Given the description of an element on the screen output the (x, y) to click on. 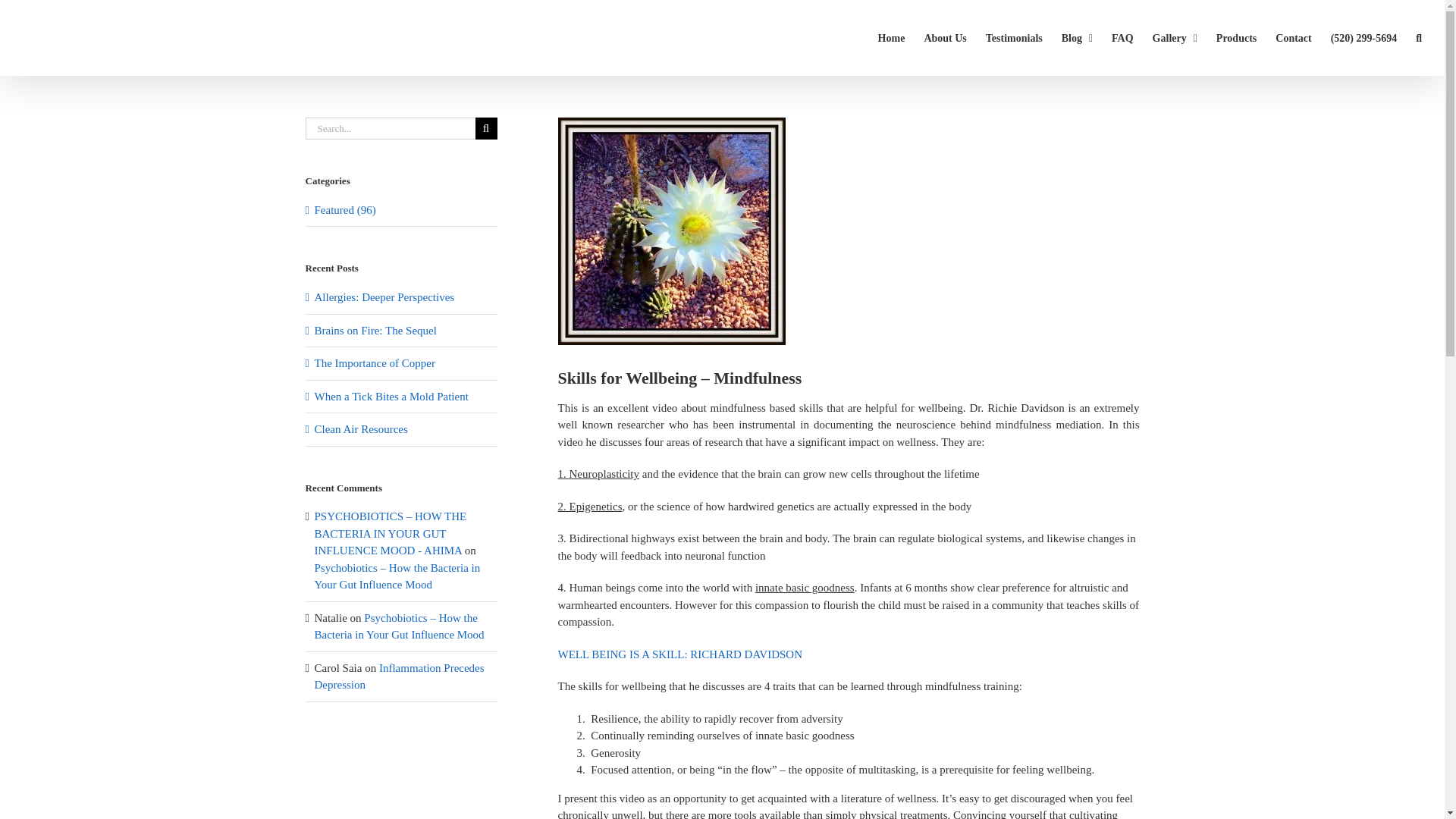
WELL-BEING IS A SKILL: DR.RICHARD DAVIDSON (680, 654)
WELL BEING IS A SKILL: RICHARD DAVIDSON (680, 654)
View Larger Image (671, 230)
